Given the description of an element on the screen output the (x, y) to click on. 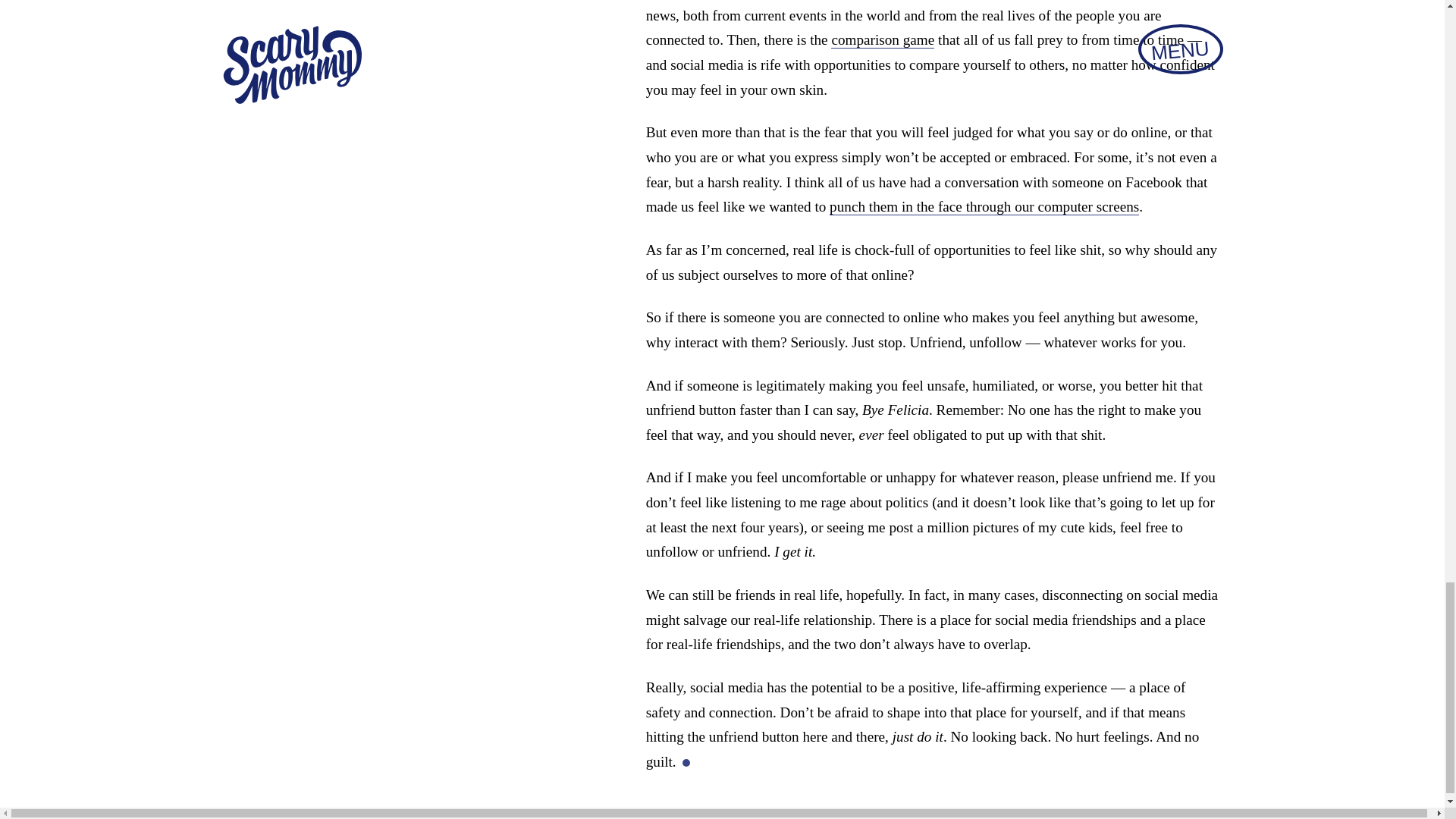
punch them in the face through our computer screens (983, 207)
comparison game (882, 39)
